Given the description of an element on the screen output the (x, y) to click on. 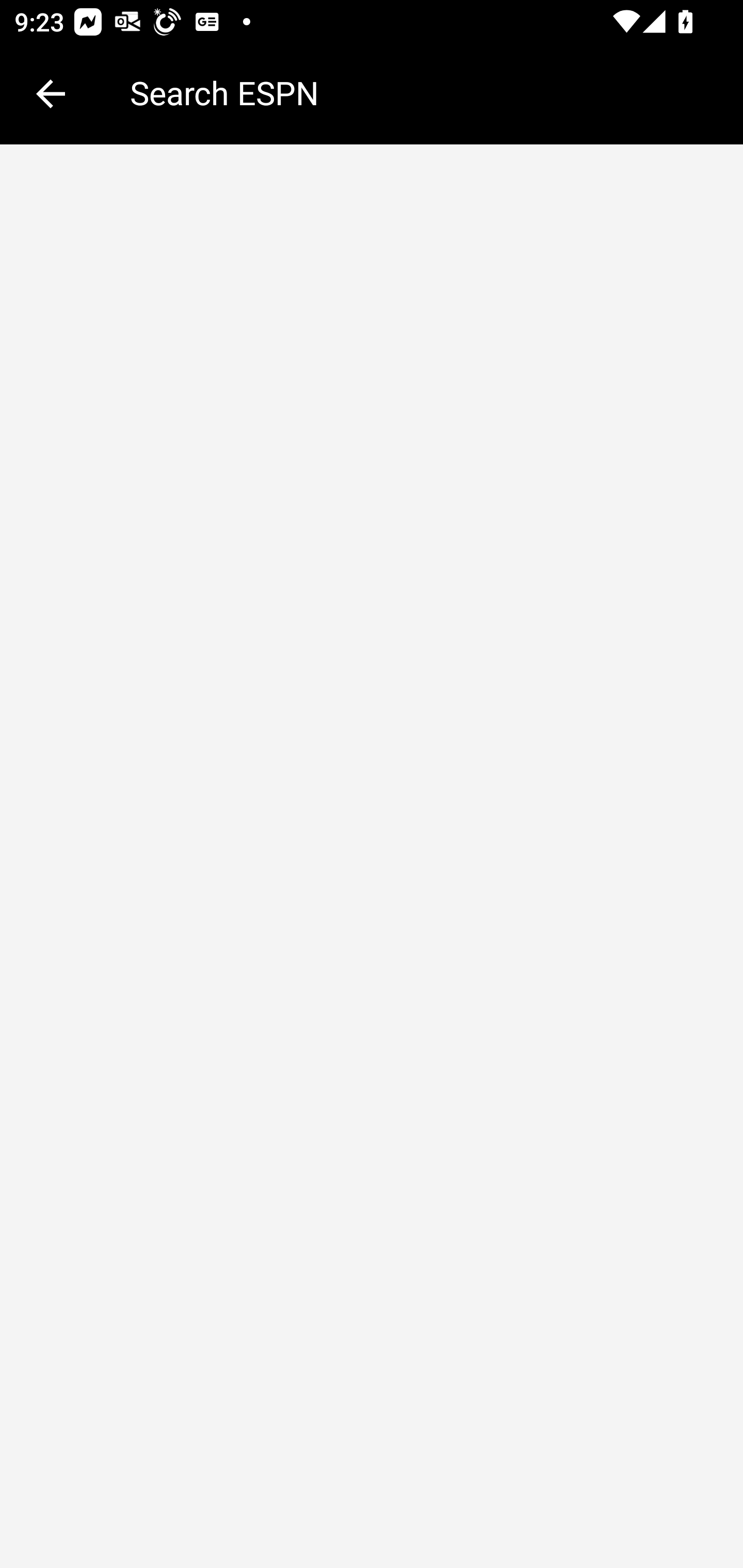
Collapse (50, 93)
Search ESPN (421, 92)
